Given the description of an element on the screen output the (x, y) to click on. 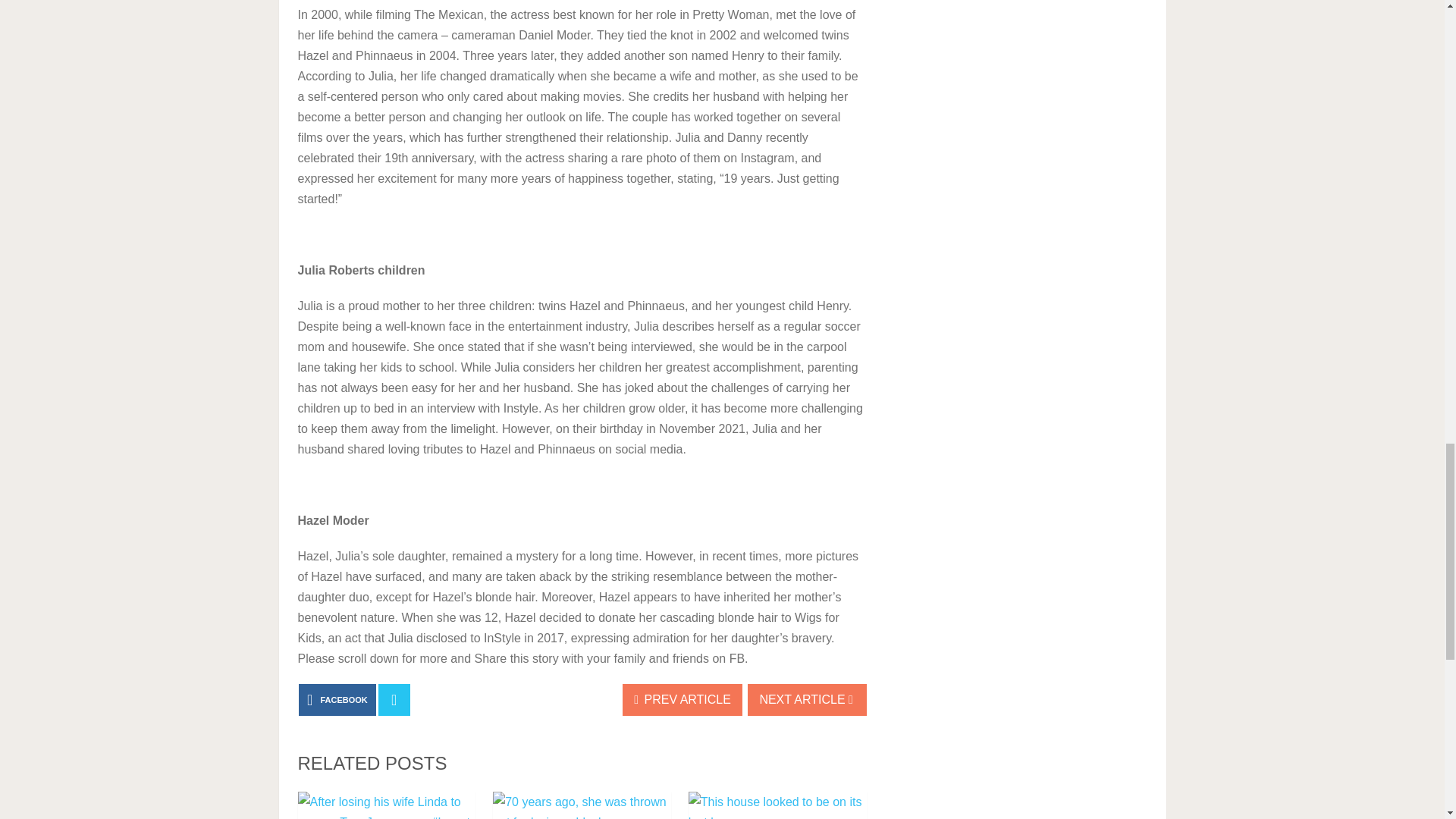
This house looked to be on its last legs. (777, 805)
PREV ARTICLE (682, 699)
NEXT ARTICLE (807, 699)
FACEBOOK (336, 699)
